Given the description of an element on the screen output the (x, y) to click on. 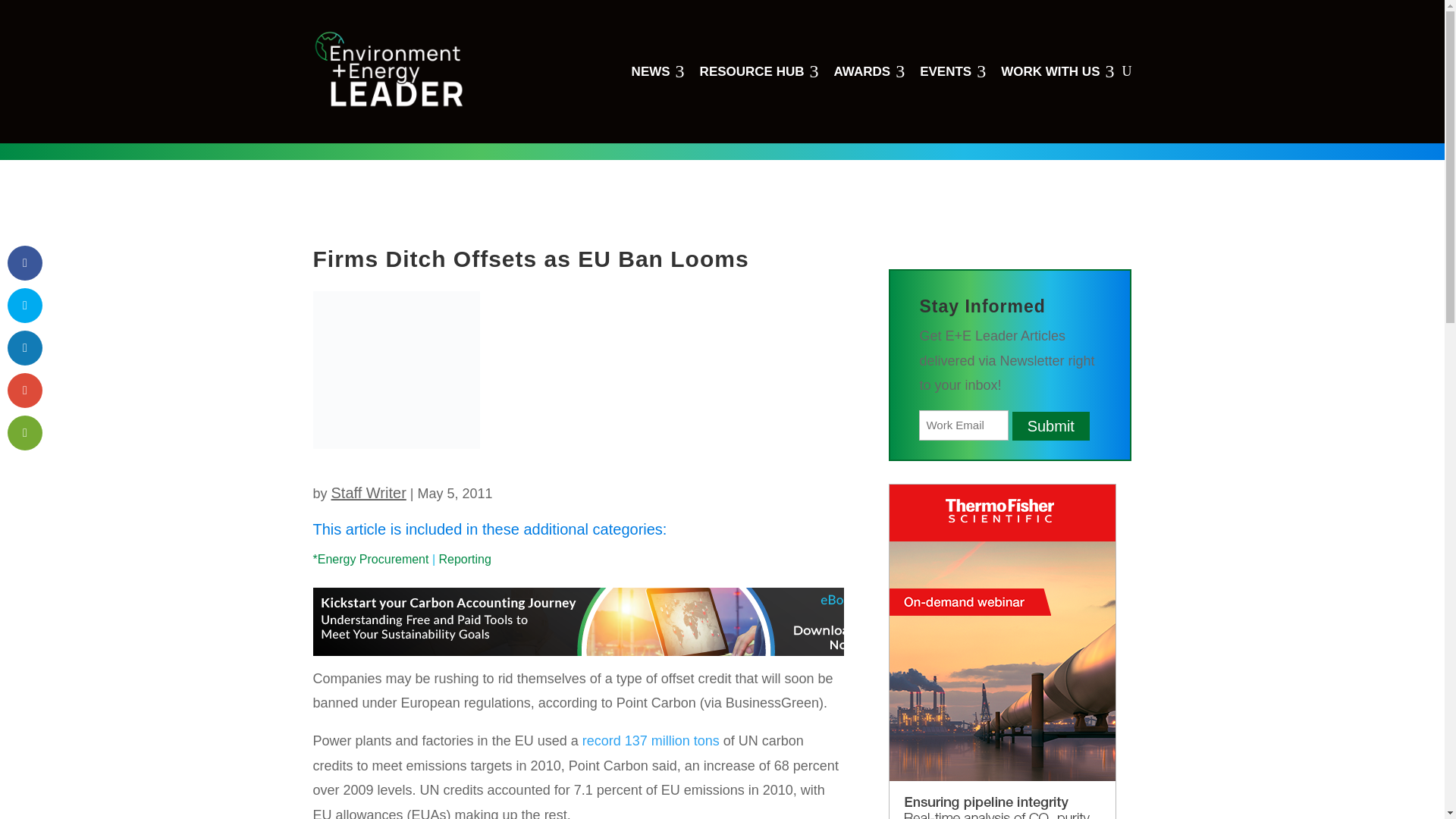
Submit (759, 71)
Power plant Germany resize (869, 71)
Posts by Staff Writer (1057, 71)
